Given the description of an element on the screen output the (x, y) to click on. 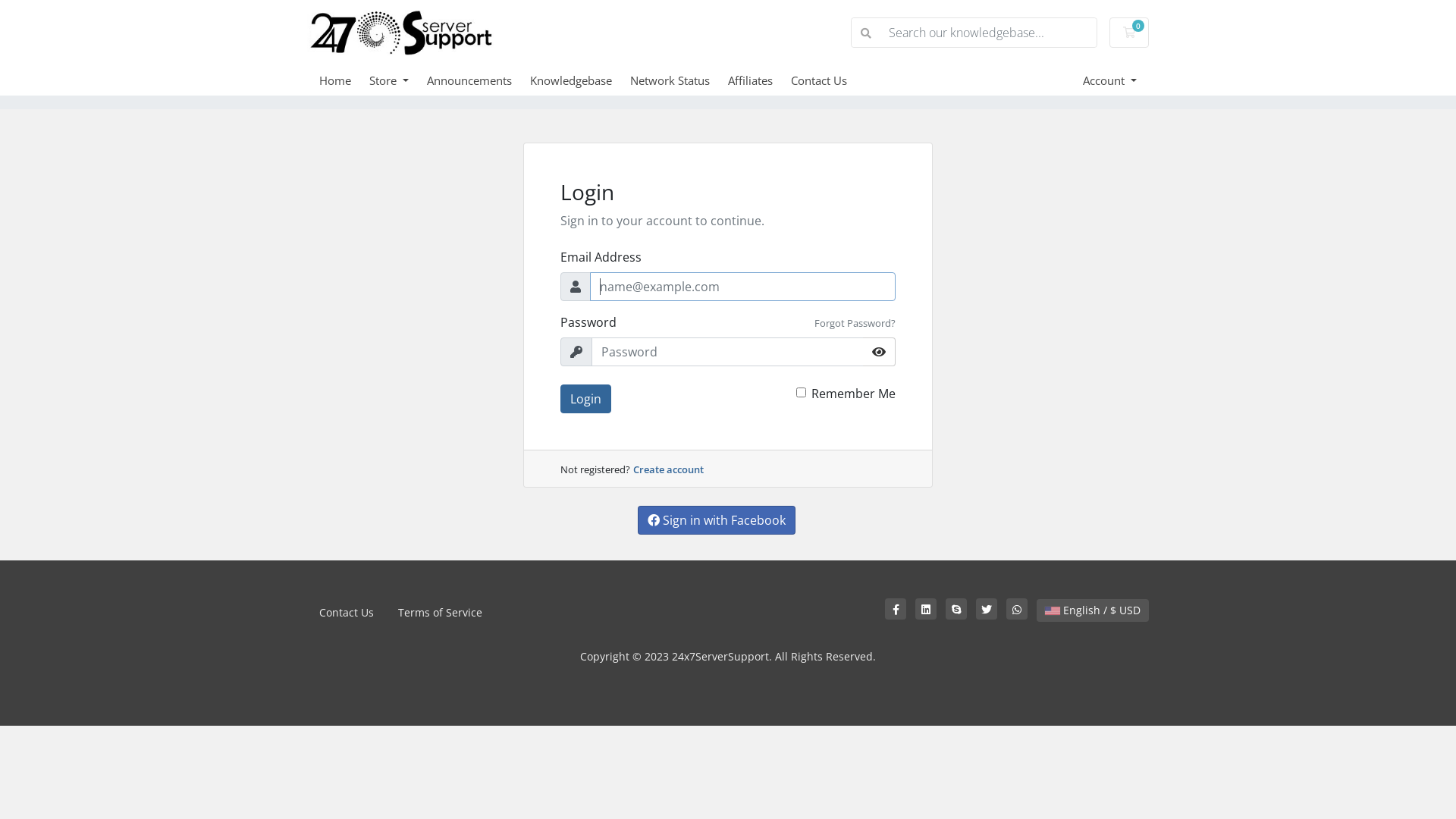
0
Shopping Cart Element type: text (1128, 32)
Terms of Service Element type: text (439, 612)
Affiliates Element type: text (759, 79)
Home Element type: text (344, 79)
Create account Element type: text (668, 469)
Sign in with Facebook Element type: text (716, 519)
Knowledgebase Element type: text (580, 79)
Contact Us Element type: text (346, 612)
Announcements Element type: text (478, 79)
Contact Us Element type: text (827, 79)
Login Element type: text (585, 398)
English / $ USD Element type: text (1092, 610)
Forgot Password? Element type: text (854, 322)
Store Element type: text (397, 79)
Account Element type: text (1109, 79)
Network Status Element type: text (679, 79)
